Given the description of an element on the screen output the (x, y) to click on. 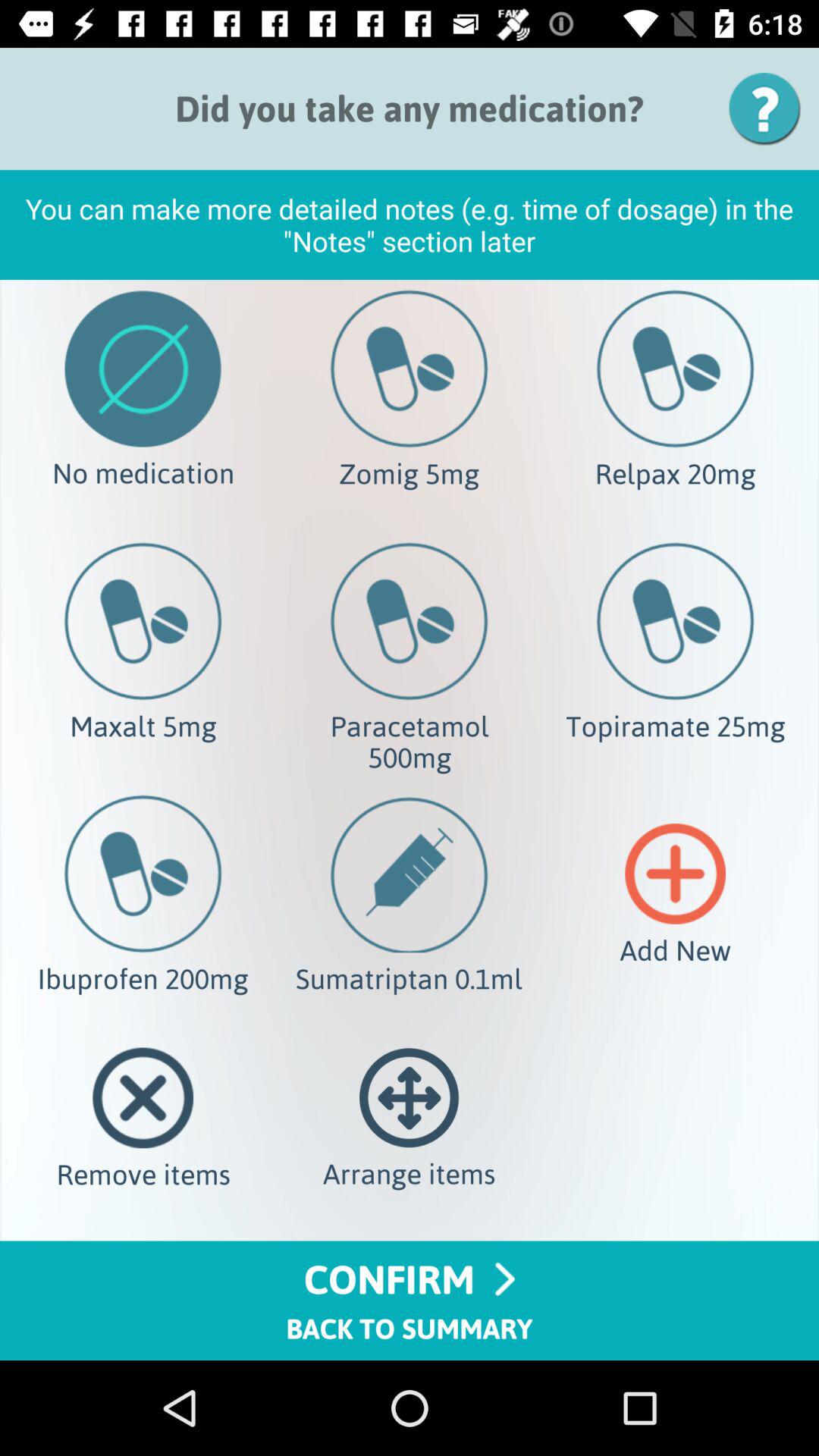
tap icon above you can make app (769, 108)
